Given the description of an element on the screen output the (x, y) to click on. 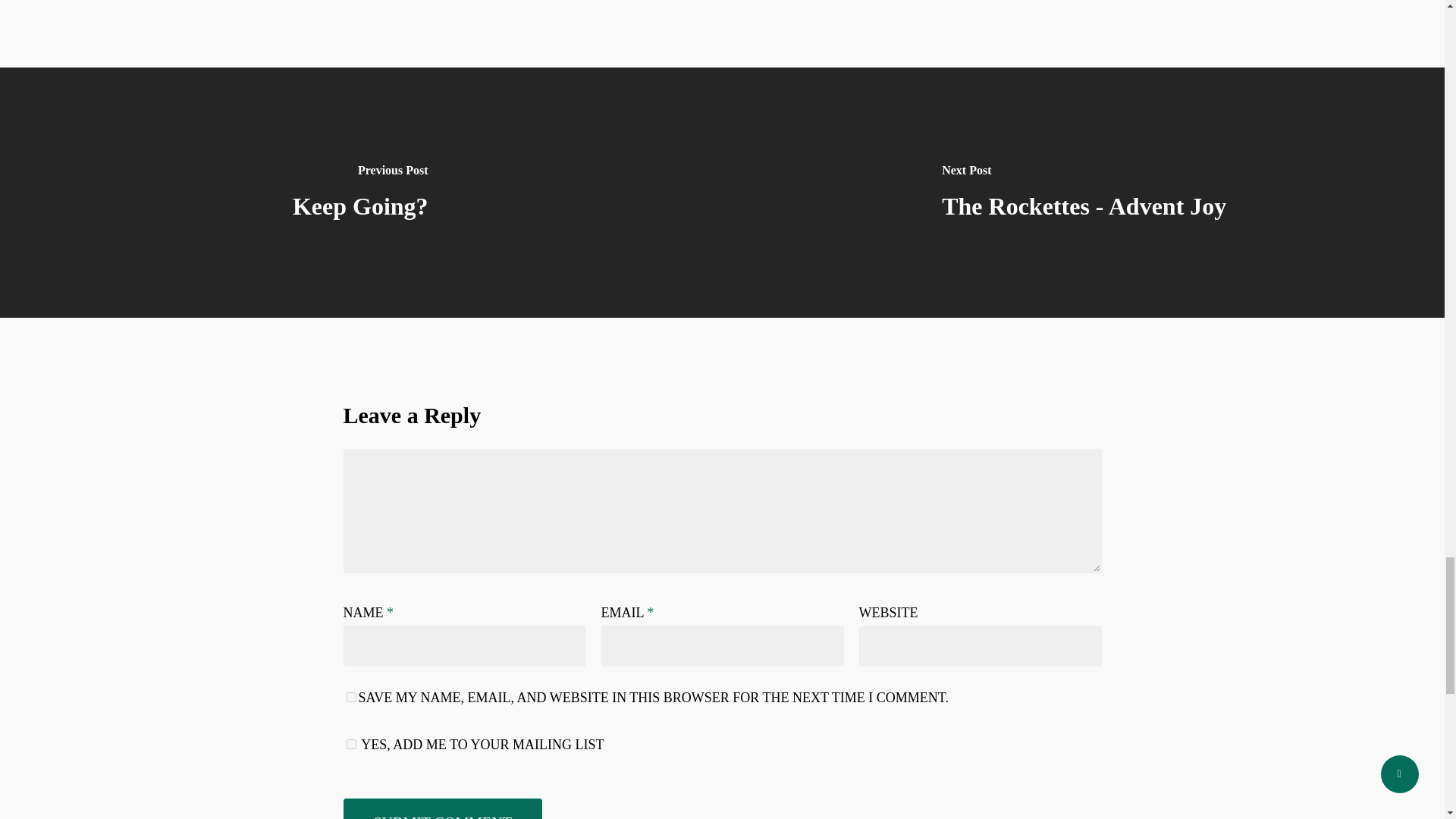
Submit Comment (441, 808)
1 (350, 744)
yes (350, 696)
